Given the description of an element on the screen output the (x, y) to click on. 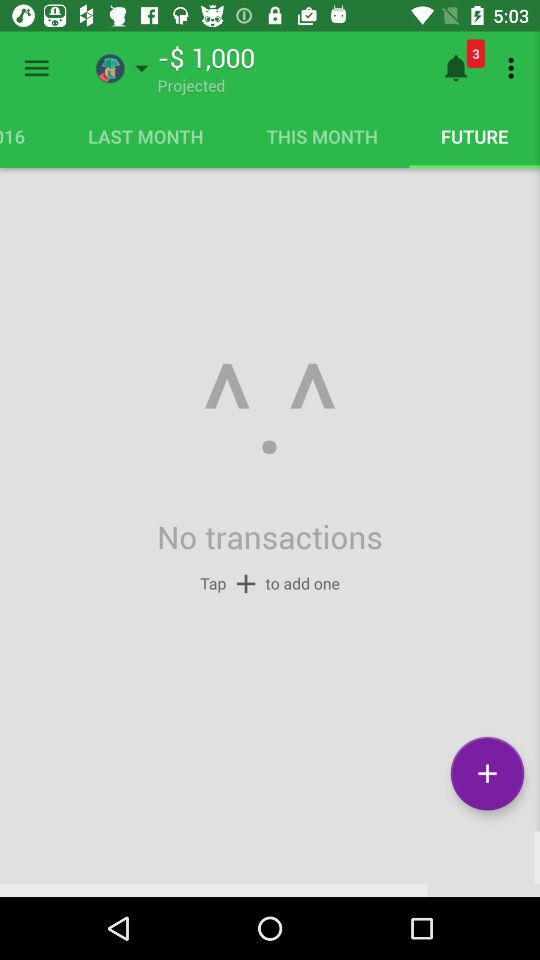
open menu (36, 68)
